Given the description of an element on the screen output the (x, y) to click on. 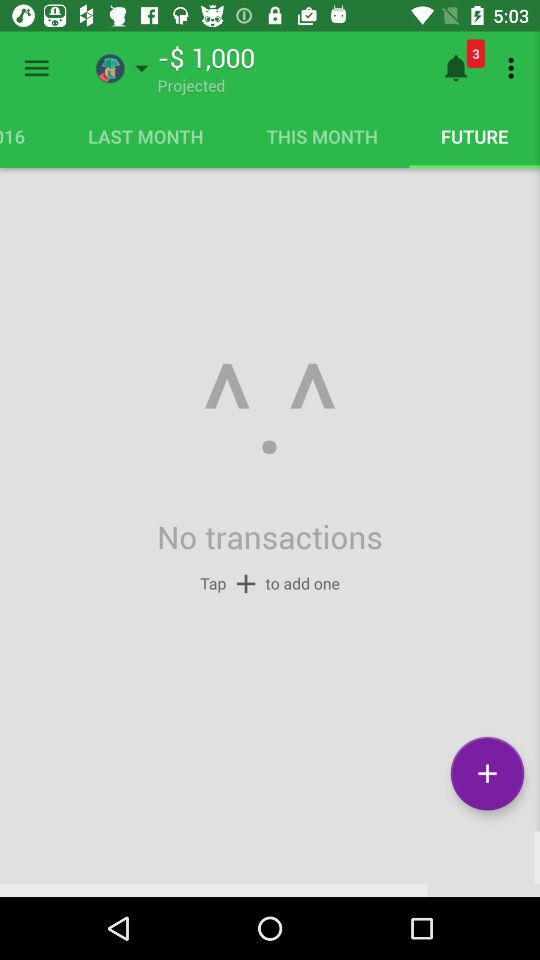
open menu (36, 68)
